Given the description of an element on the screen output the (x, y) to click on. 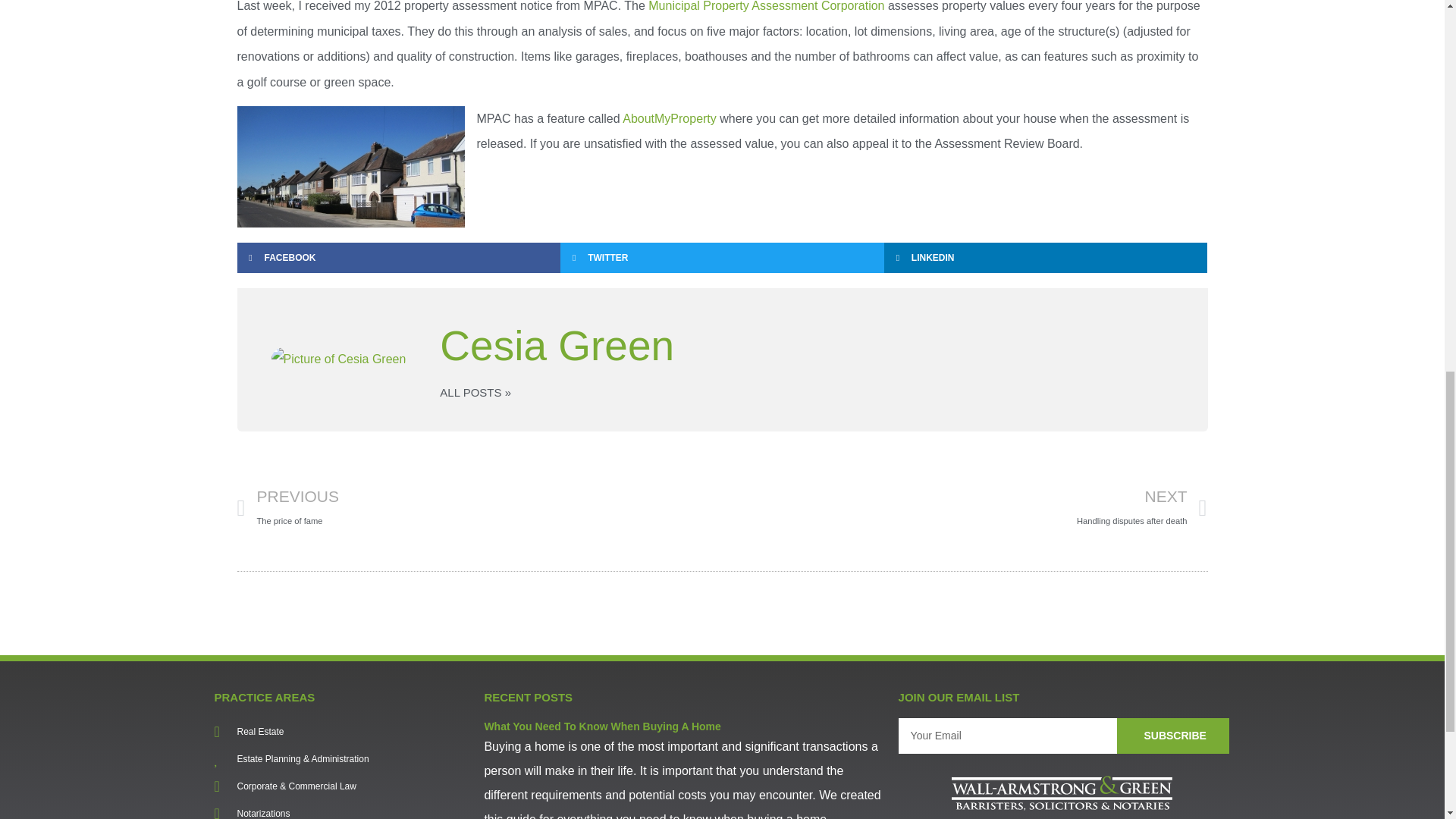
AboutMyProperty (669, 118)
Municipal Property Assessment Corporation (765, 6)
MPAC (765, 6)
AboutMyProperty (669, 118)
Suburb (349, 166)
